Given the description of an element on the screen output the (x, y) to click on. 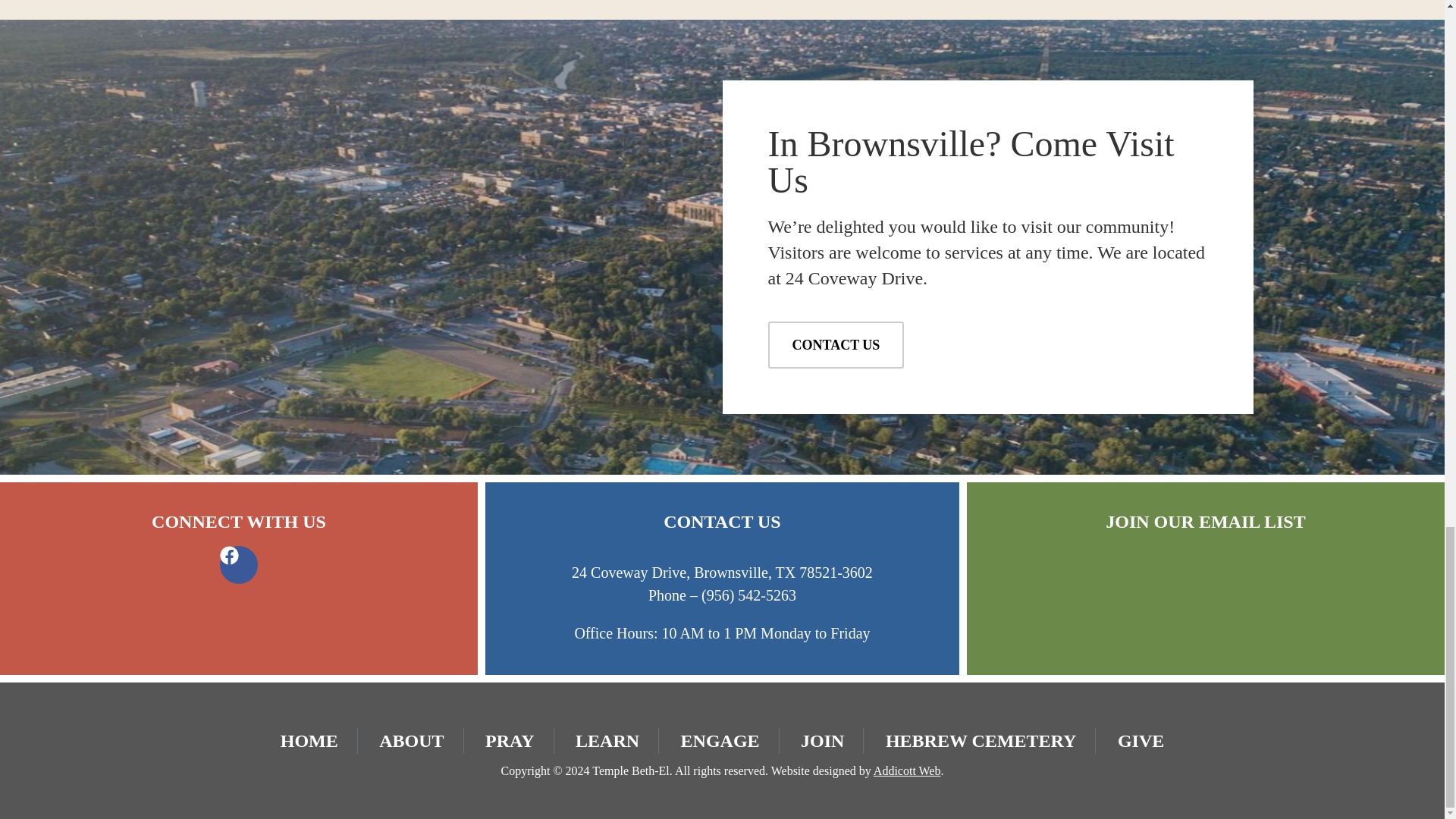
Addicott Web (906, 770)
LEARN (607, 741)
CONTACT US (835, 344)
HEBREW CEMETERY (980, 741)
JOIN (822, 741)
HOME (309, 741)
ENGAGE (720, 741)
JOIN OUR EMAIL LIST (1204, 521)
GIVE (1140, 741)
ABOUT (411, 741)
PRAY (509, 741)
